Given the description of an element on the screen output the (x, y) to click on. 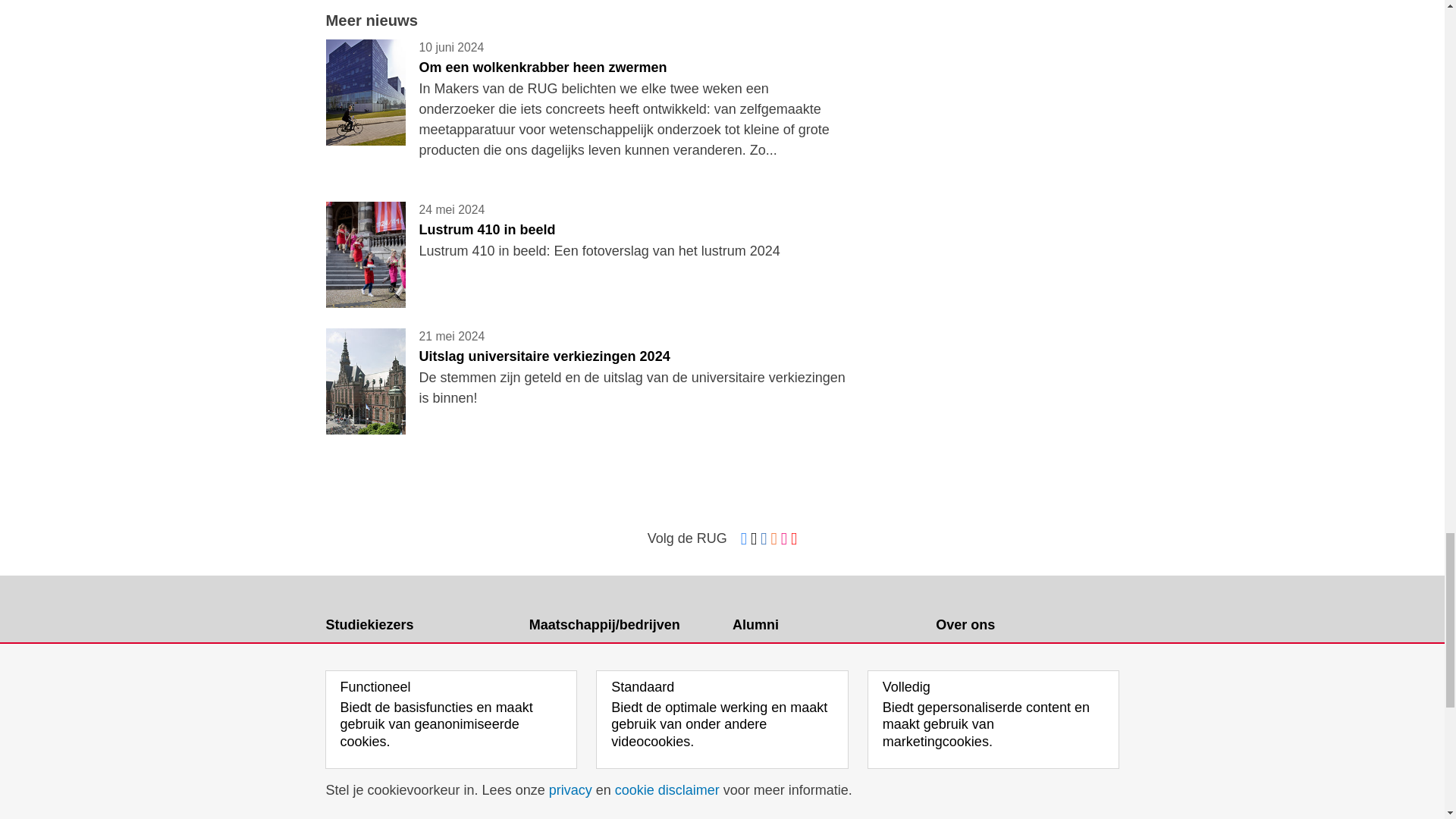
linkedin (763, 538)
facebook (743, 538)
rss (774, 538)
youtube (793, 538)
twitter (754, 538)
instagram (783, 538)
